Given the description of an element on the screen output the (x, y) to click on. 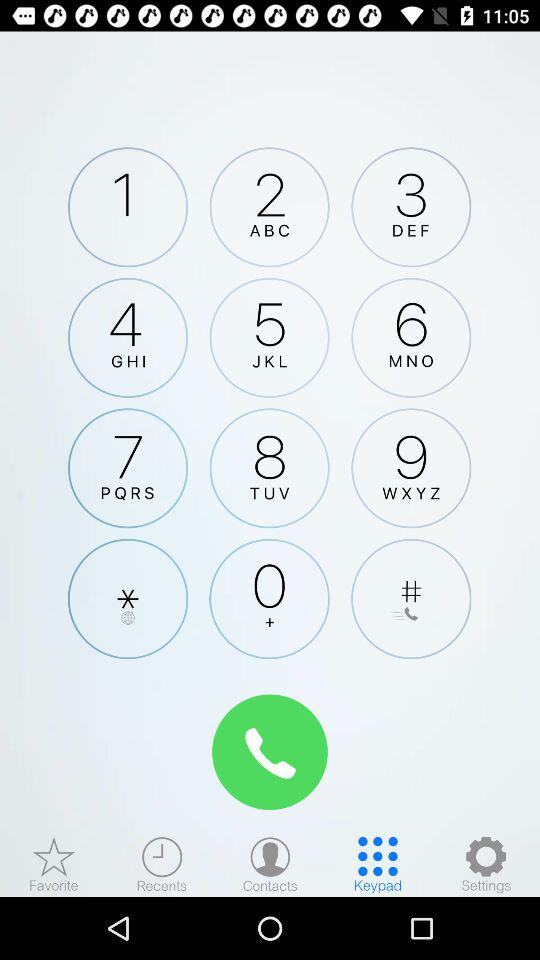
enter 3 (411, 207)
